Given the description of an element on the screen output the (x, y) to click on. 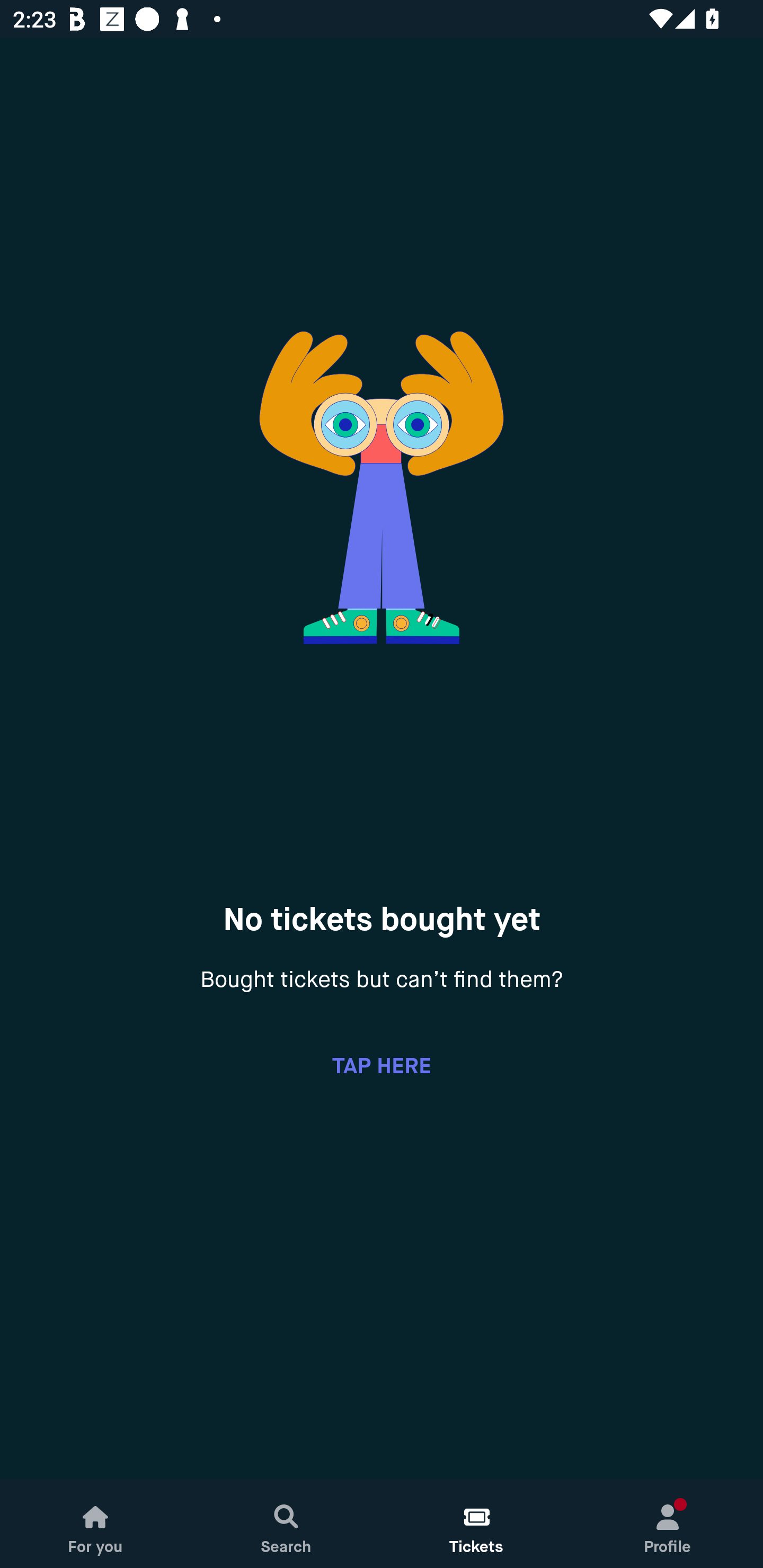
TAP HERE (381, 1065)
For you (95, 1523)
Search (285, 1523)
Profile, New notification Profile (667, 1523)
